Given the description of an element on the screen output the (x, y) to click on. 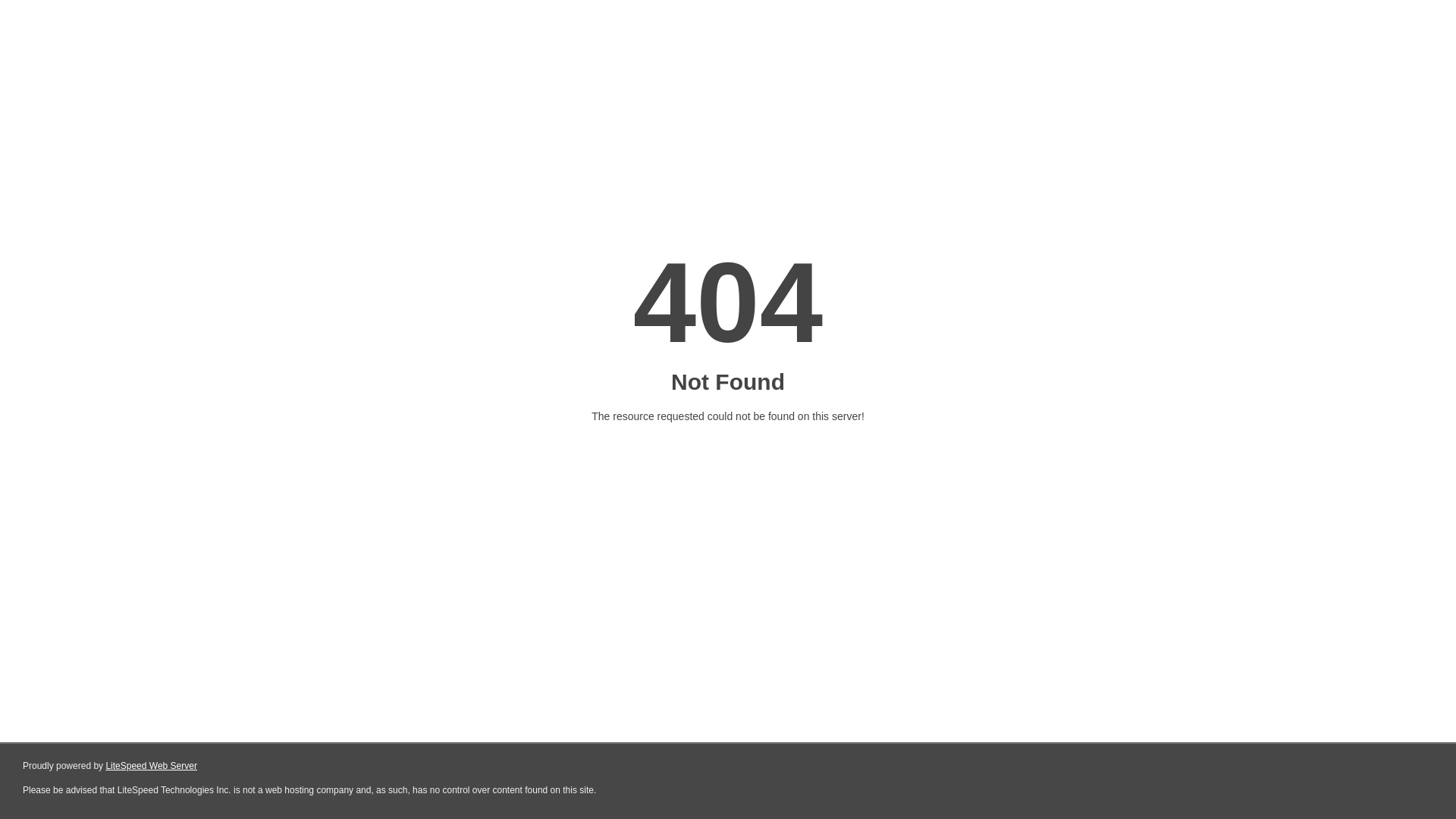
LiteSpeed Web Server Element type: text (151, 765)
